Given the description of an element on the screen output the (x, y) to click on. 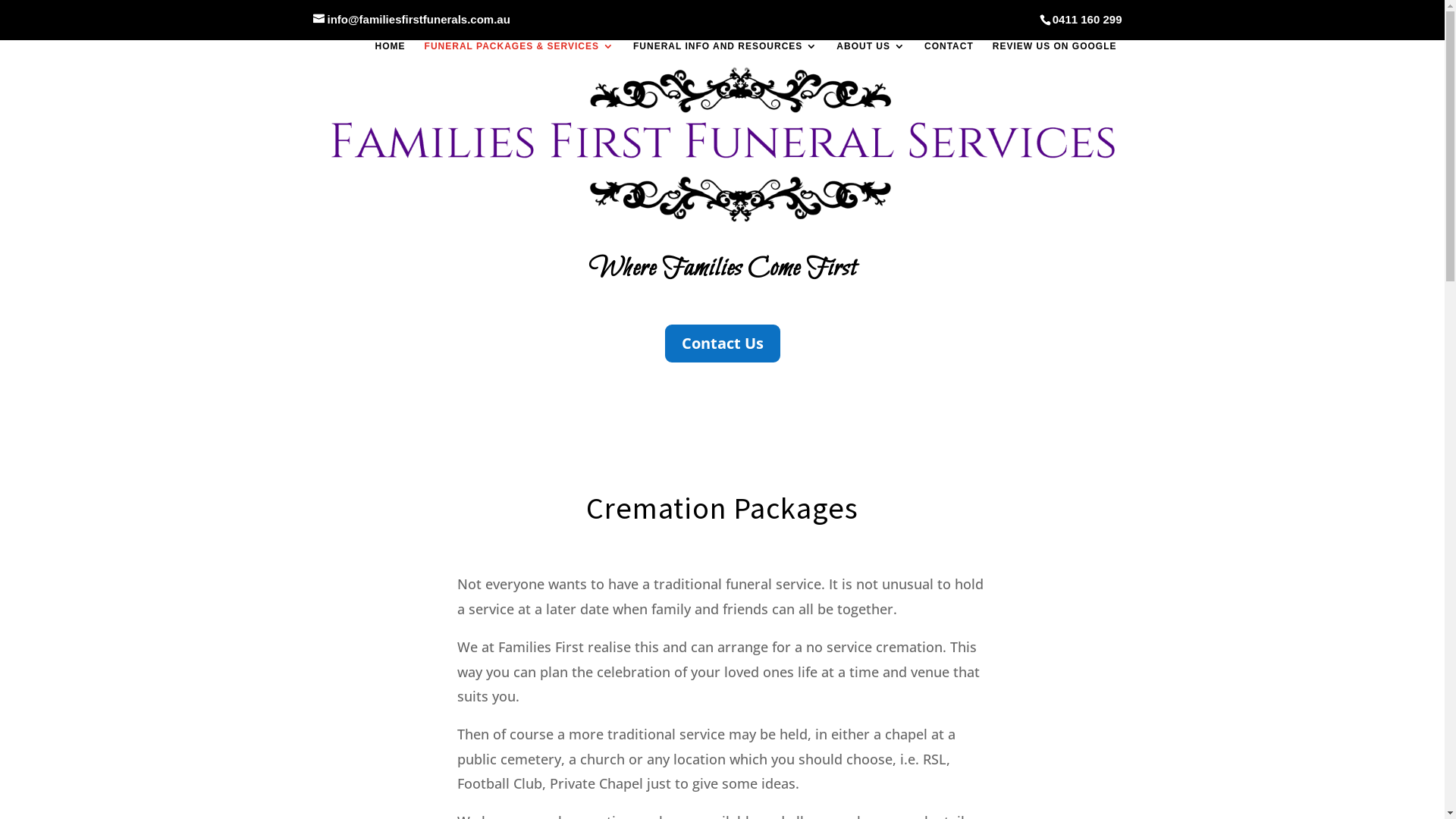
families-first-funeral-services-logo-landscape Element type: hover (721, 143)
ABOUT US Element type: text (870, 54)
0411 160 299 Element type: text (1087, 18)
FUNERAL PACKAGES & SERVICES Element type: text (519, 54)
CONTACT Element type: text (948, 54)
REVIEW US ON GOOGLE Element type: text (1054, 54)
FUNERAL INFO AND RESOURCES Element type: text (725, 54)
info@familiesfirstfunerals.com.au Element type: text (410, 19)
Contact Us Element type: text (721, 343)
HOME Element type: text (390, 54)
